Given the description of an element on the screen output the (x, y) to click on. 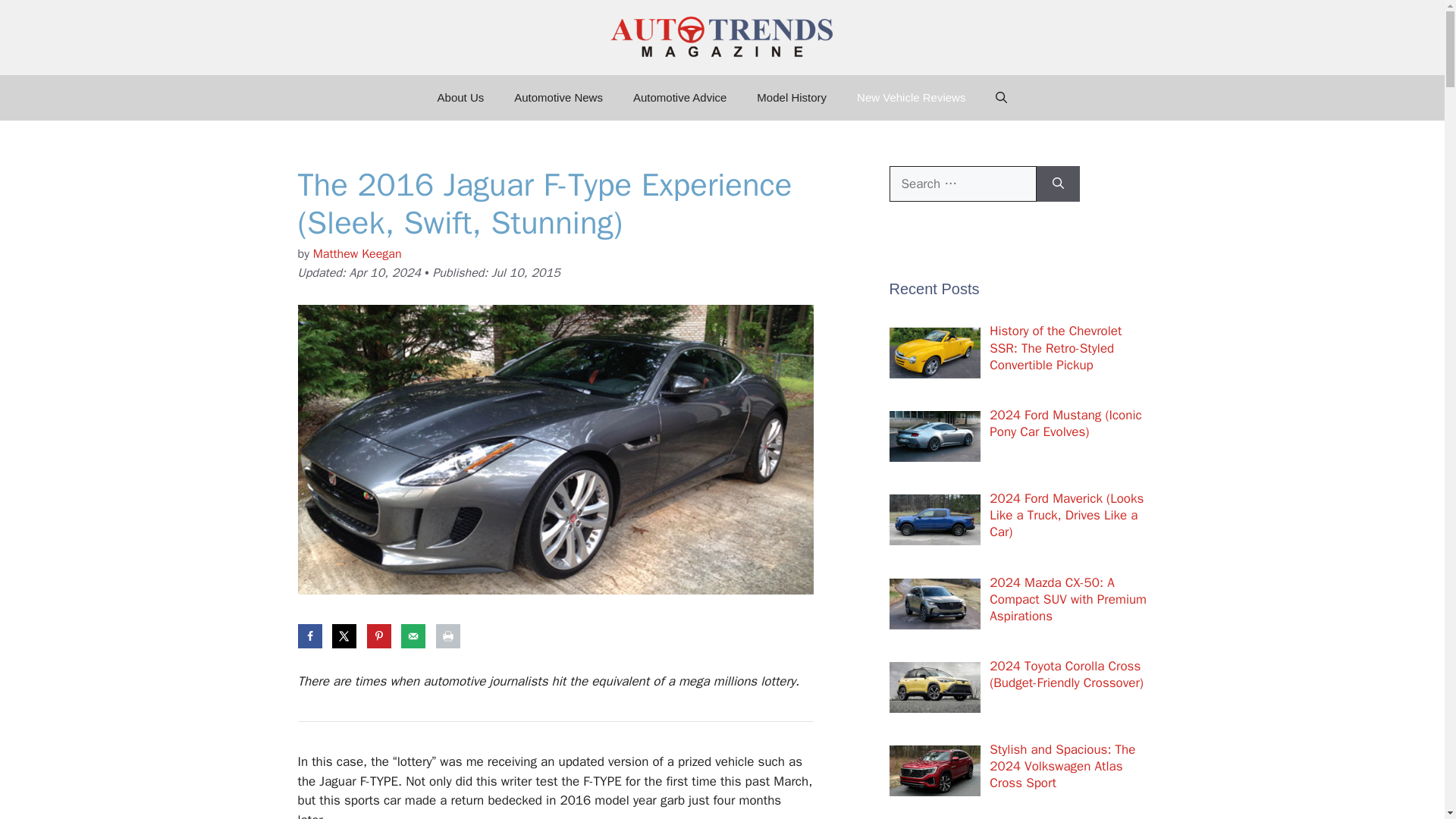
Send over email (413, 636)
Model History (791, 97)
Print this webpage (447, 636)
Automotive News (558, 97)
Share on X (343, 636)
Matthew Keegan (357, 253)
About Us (460, 97)
Automotive Advice (679, 97)
Share on Facebook (309, 636)
Save to Pinterest (378, 636)
View all posts by Matthew Keegan (357, 253)
New Vehicle Reviews (910, 97)
